Given the description of an element on the screen output the (x, y) to click on. 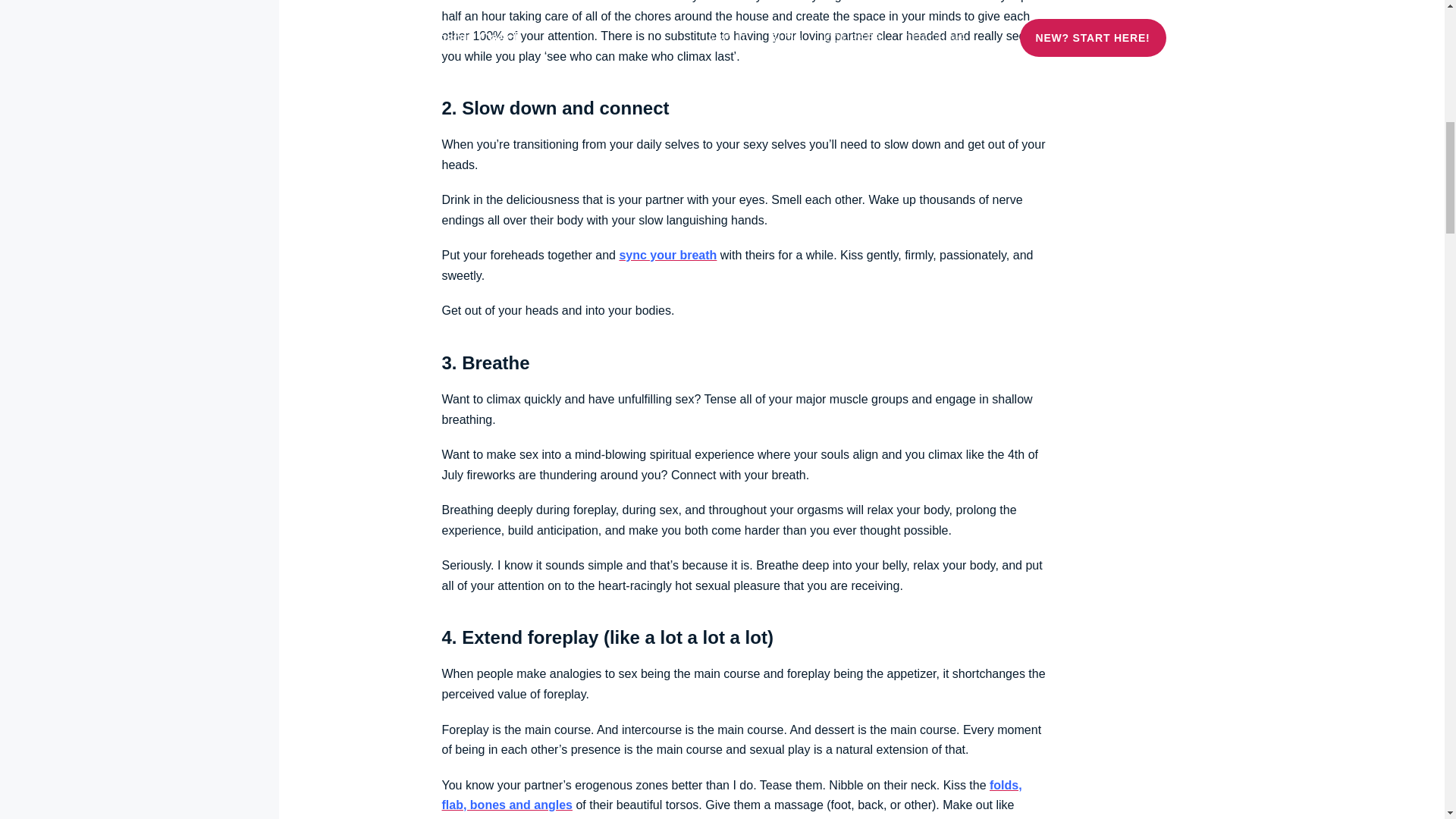
sync your breath (667, 254)
6 Connection Exercises For Couples To Build Intimacy (667, 254)
folds, flab, bones and angles (731, 795)
